Given the description of an element on the screen output the (x, y) to click on. 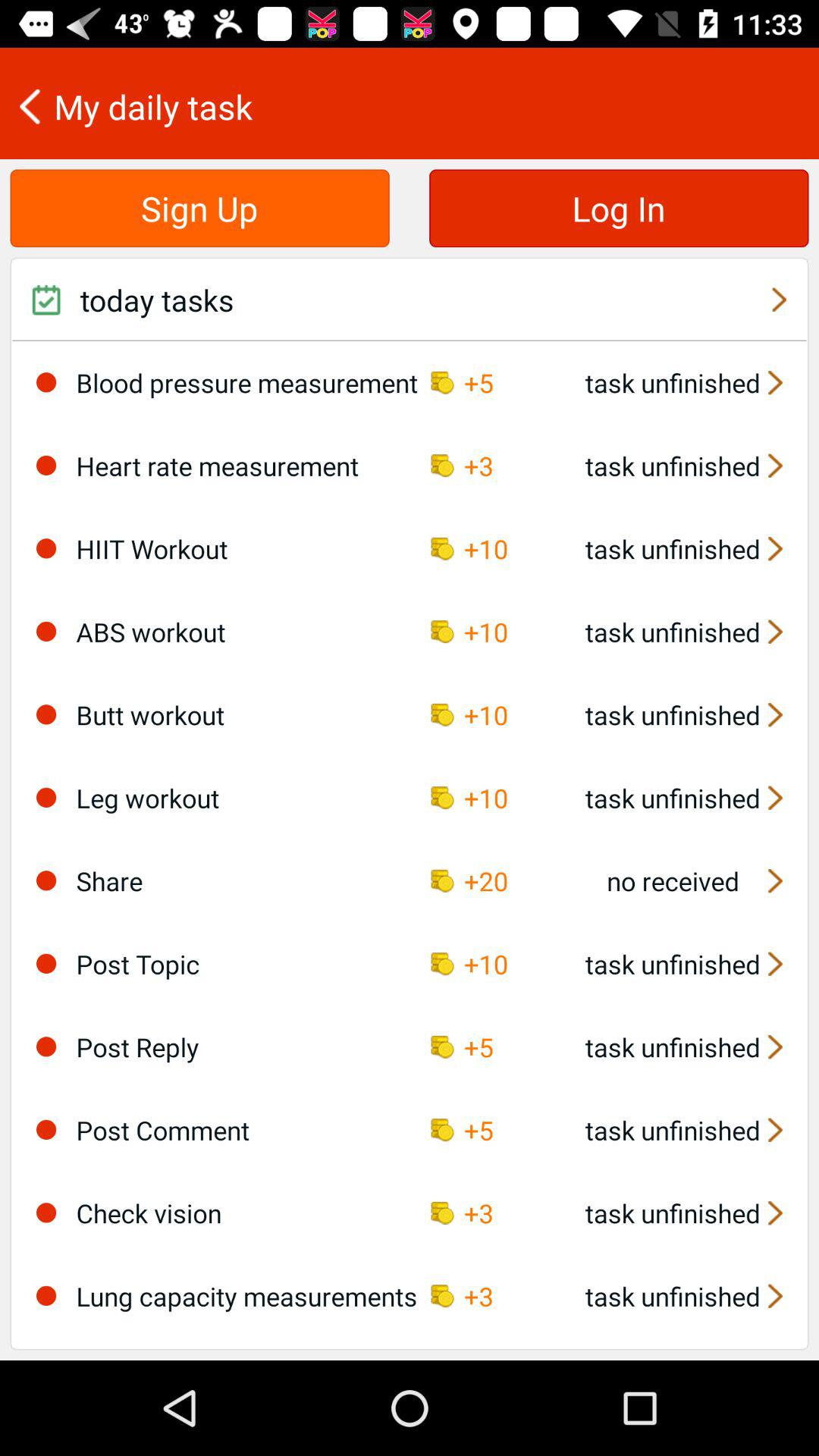
select this optiond (46, 631)
